Given the description of an element on the screen output the (x, y) to click on. 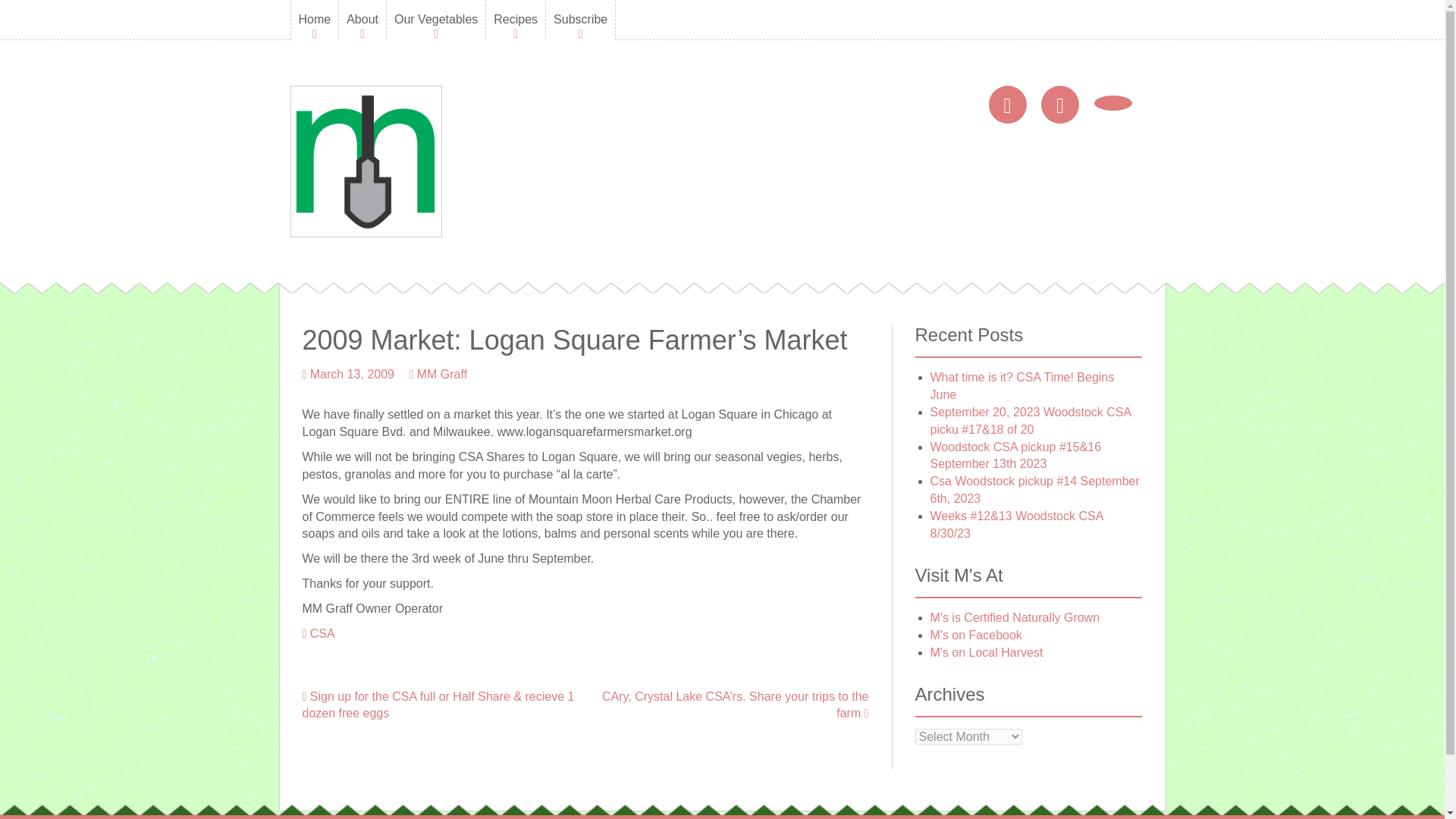
What time is it? CSA Time! Begins June (1021, 386)
M's on Facebook (976, 634)
Our Vegetables (435, 19)
M's on Local Harvest (986, 652)
CSA (322, 633)
M's is Certified Naturally Grown (1014, 617)
March 13, 2009 (352, 373)
MM Graff (441, 373)
About (362, 19)
Home (314, 19)
Subscribe (580, 19)
M's Organic Farm (365, 160)
Recipes (515, 19)
